Given the description of an element on the screen output the (x, y) to click on. 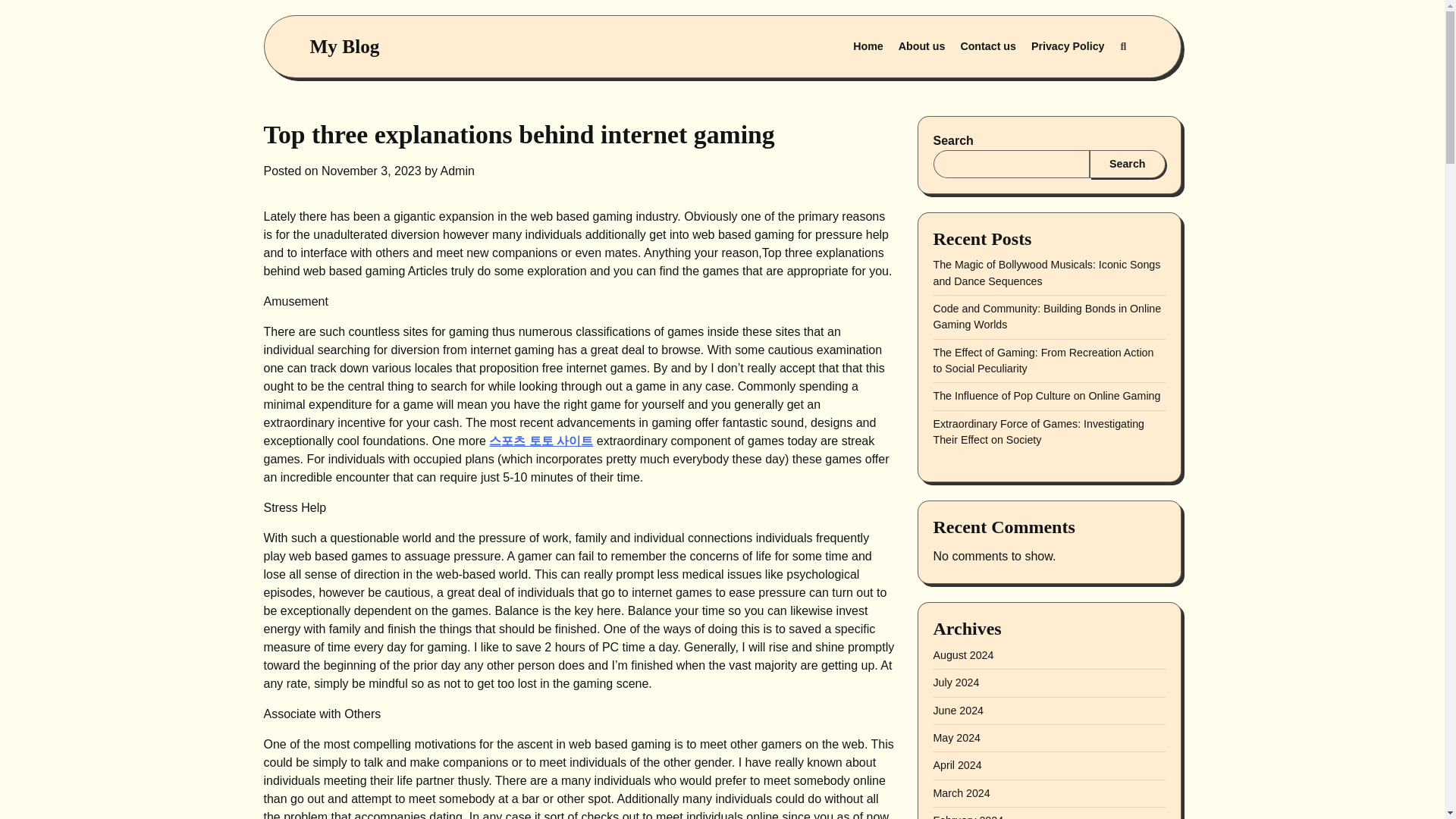
My Blog (343, 46)
August 2024 (962, 654)
June 2024 (958, 710)
April 2024 (957, 765)
Admin (457, 170)
About us (922, 46)
Privacy Policy (1067, 46)
November 3, 2023 (371, 170)
Search (1123, 47)
Search (1126, 163)
Search (1086, 83)
May 2024 (956, 737)
